Given the description of an element on the screen output the (x, y) to click on. 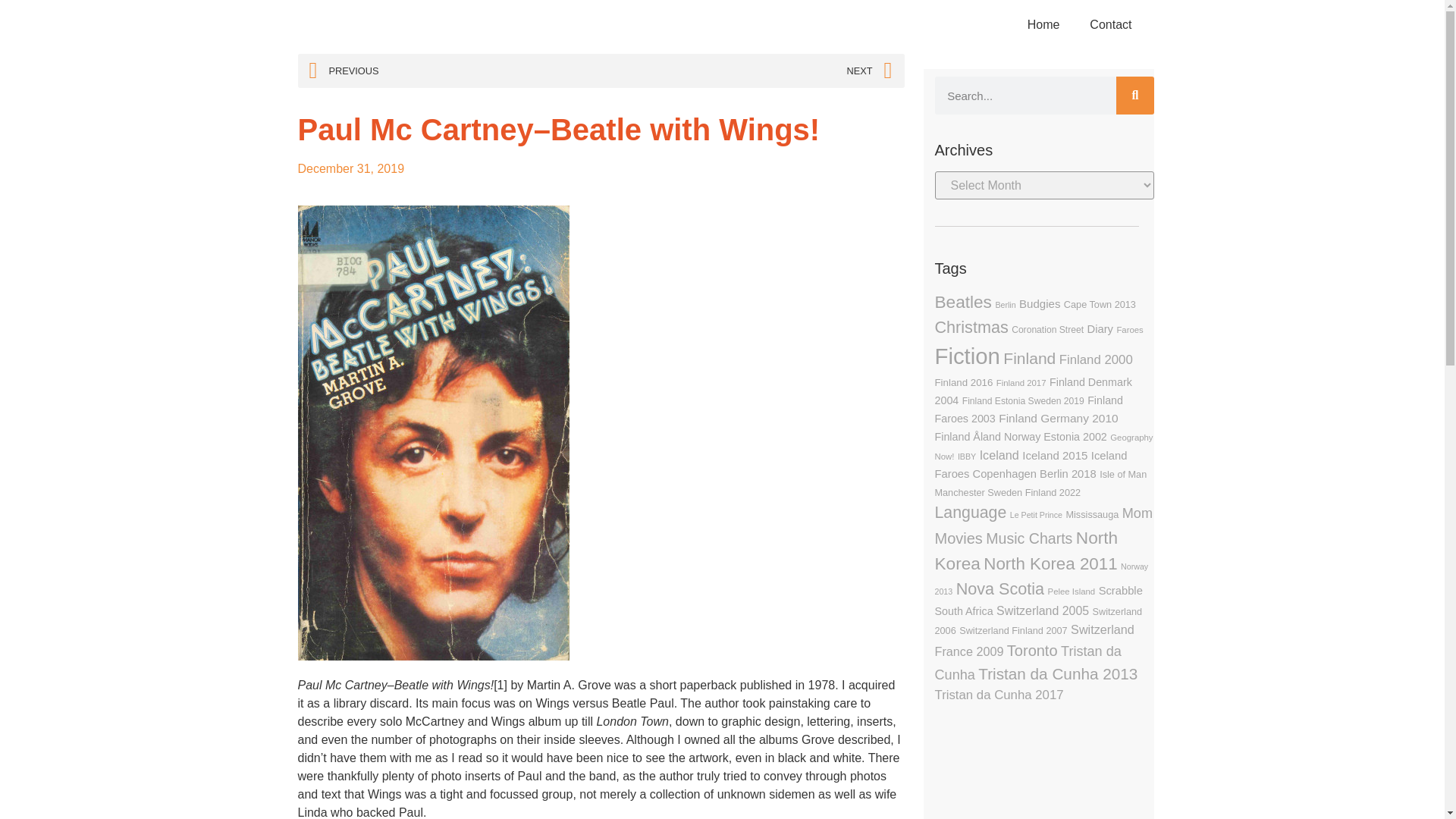
Geography Now! (1043, 447)
Budgies (1039, 303)
Home (1043, 24)
Iceland 2015 (1054, 454)
Language (970, 512)
Contact (1110, 24)
Iceland (999, 454)
Finland Germany 2010 (1058, 418)
Diary (1100, 328)
Faroes (1129, 329)
